Given the description of an element on the screen output the (x, y) to click on. 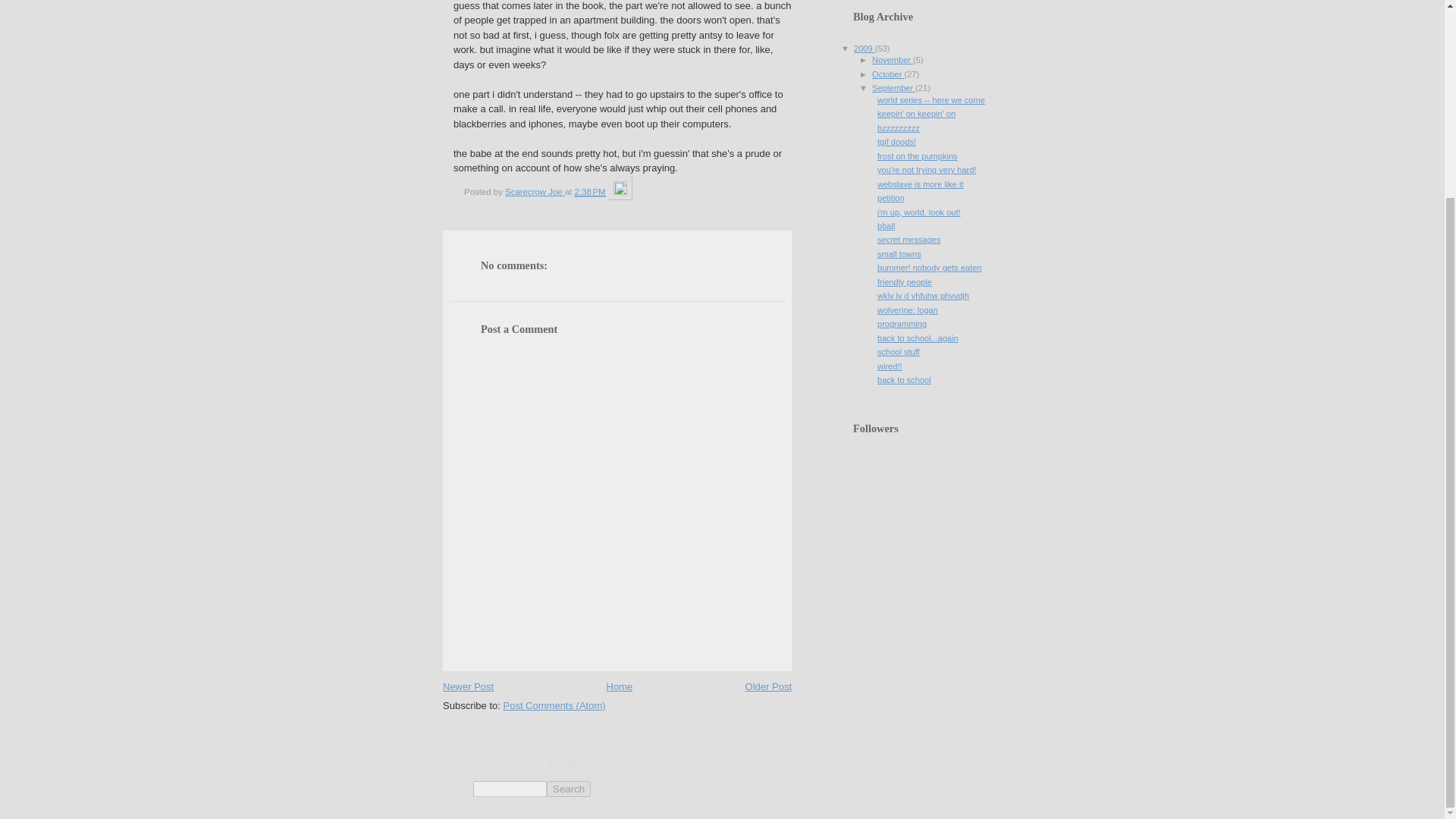
September (893, 87)
frost on the pumpkins (917, 155)
friendly people (904, 281)
Edit Post (619, 191)
secret messages (908, 239)
keepin' on keepin' on (916, 112)
bummer! nobody gets eaten (929, 266)
bball (886, 225)
you're not trying very hard! (926, 169)
bzzzzzzzzz (898, 127)
search (510, 788)
October (888, 73)
Home (620, 686)
i'm up, world. look out! (918, 212)
